Given the description of an element on the screen output the (x, y) to click on. 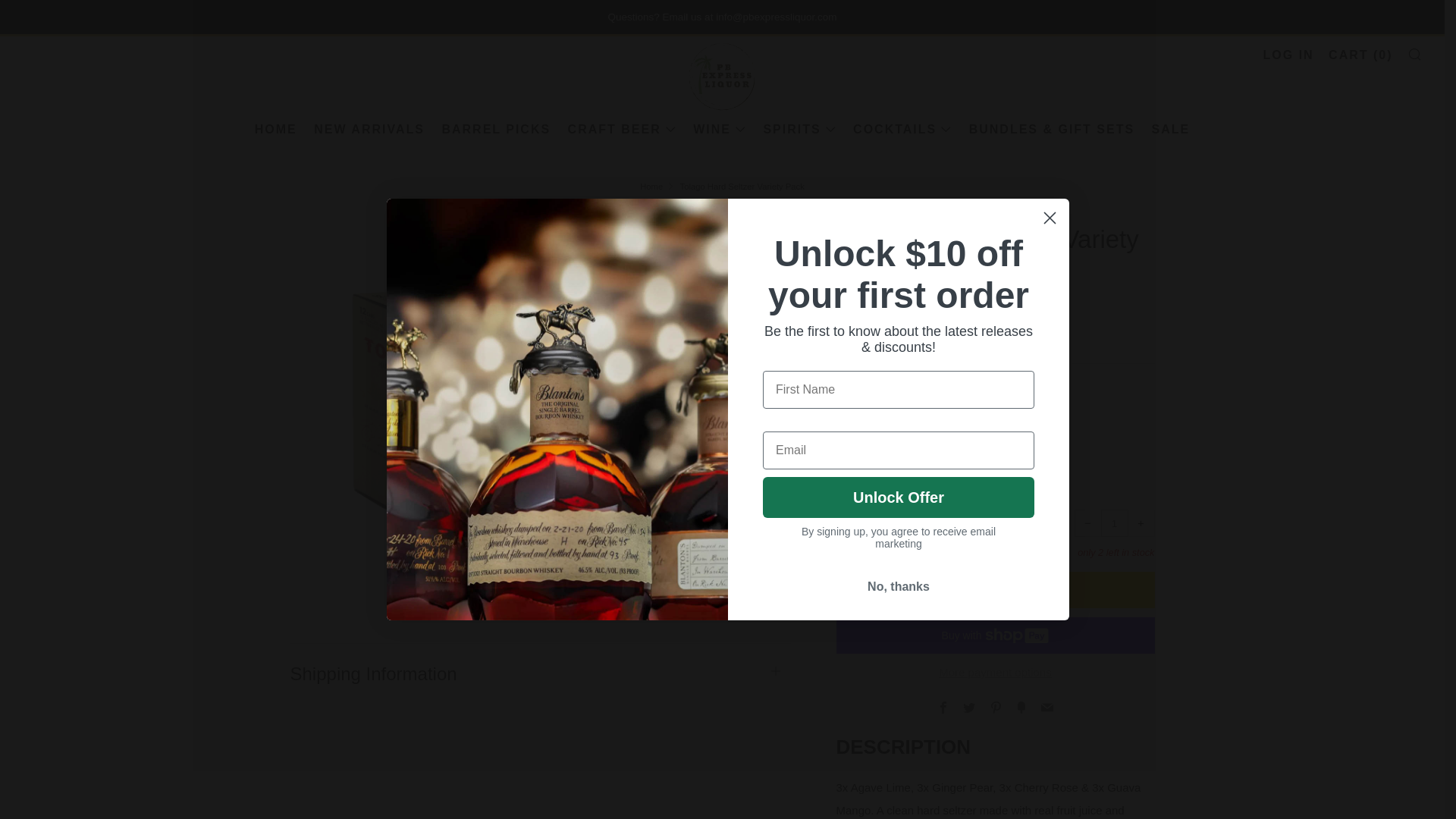
YES (727, 440)
NO (727, 485)
Home (651, 185)
1 (1114, 523)
